Given the description of an element on the screen output the (x, y) to click on. 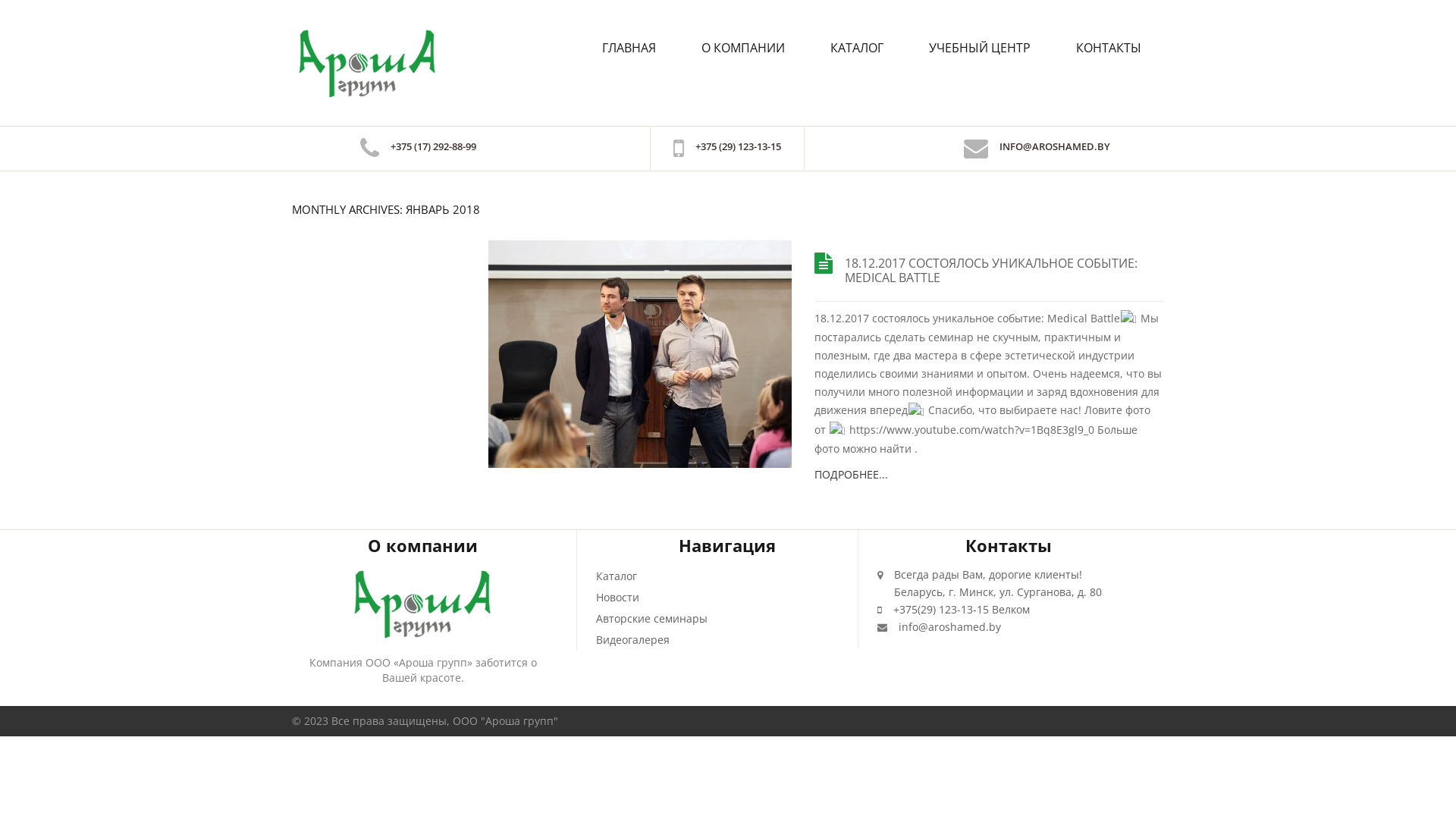
info@aroshamed.by Element type: text (949, 626)
